Given the description of an element on the screen output the (x, y) to click on. 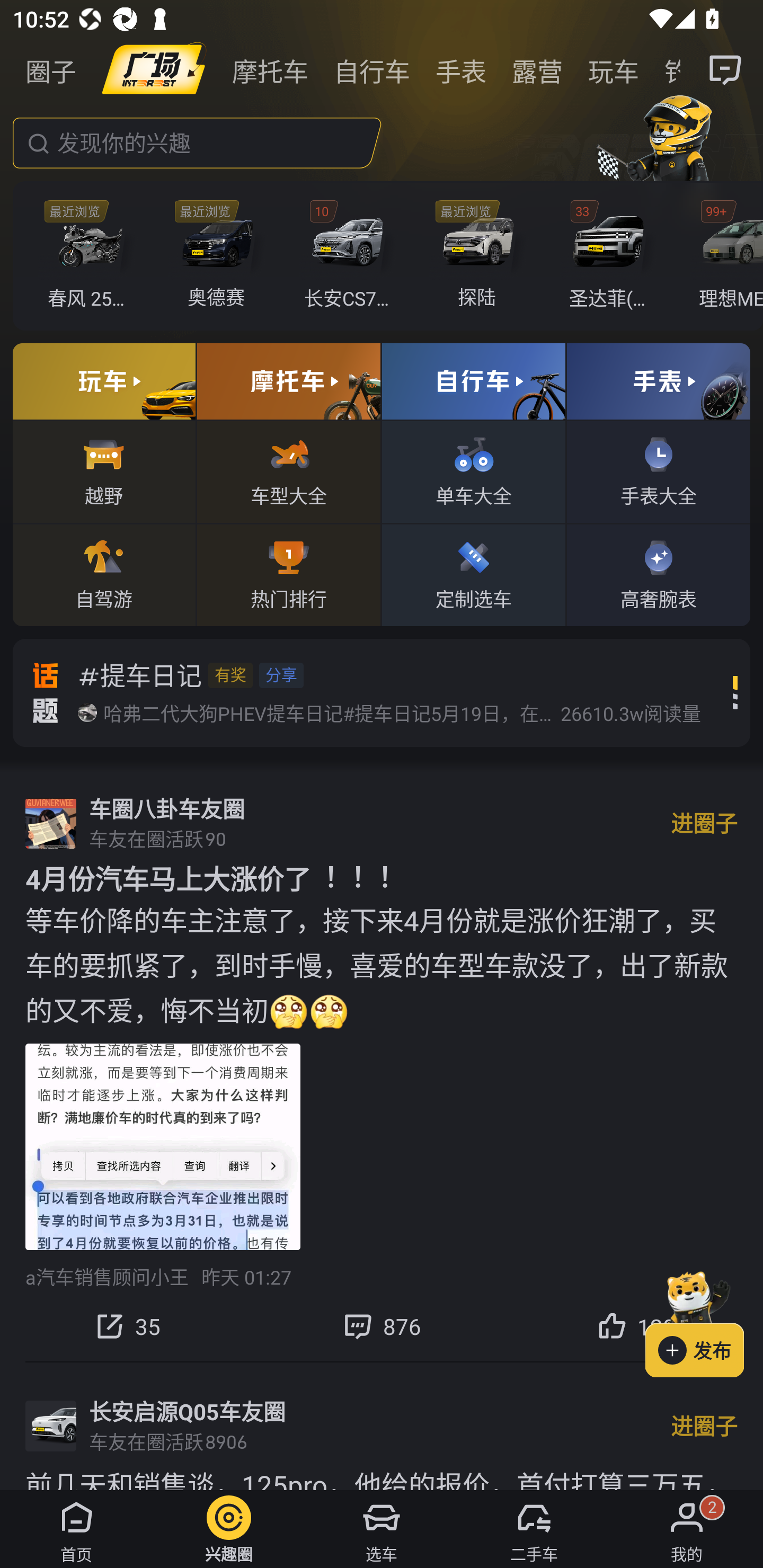
圈子 (50, 69)
image (153, 69)
摩托车 (269, 69)
自行车 (372, 69)
手表 (460, 69)
露营 (537, 69)
玩车 (613, 69)
 (726, 69)
春风 250SR (90, 256)
奥德赛 (220, 256)
10 长安CS75 PLUS (351, 256)
探陆 (481, 256)
33 圣达菲(进口) (611, 256)
99+ 理想MEGA (726, 256)
越野 (103, 471)
车型大全 (288, 471)
单车大全 (473, 471)
手表大全 (658, 471)
自驾游 (103, 574)
热门排行 (288, 574)
定制选车 (473, 574)
高奢腕表 (658, 574)
车圈八卦车友圈 车友在圈活跃 90 进圈子 (381, 822)
发布 (704, 1320)
 35 (127, 1326)
 876 (381, 1326)
长安启源Q05车友圈 车友在圈活跃 8906 进圈子 (381, 1425)
 首页 (76, 1528)
兴趣圈 (228, 1528)
 选车 (381, 1528)
 二手车 (533, 1528)
 我的 (686, 1528)
